Given the description of an element on the screen output the (x, y) to click on. 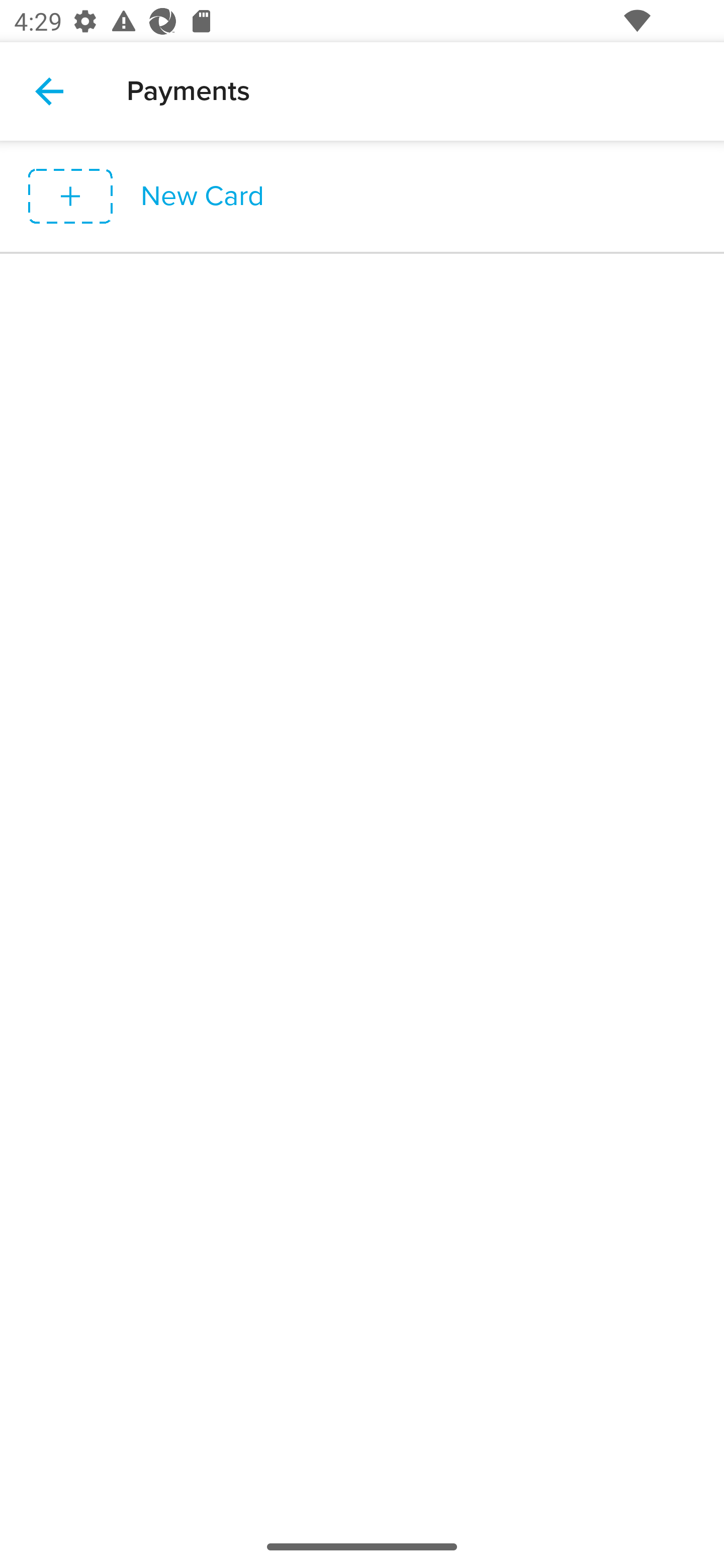
New Card (362, 196)
